Given the description of an element on the screen output the (x, y) to click on. 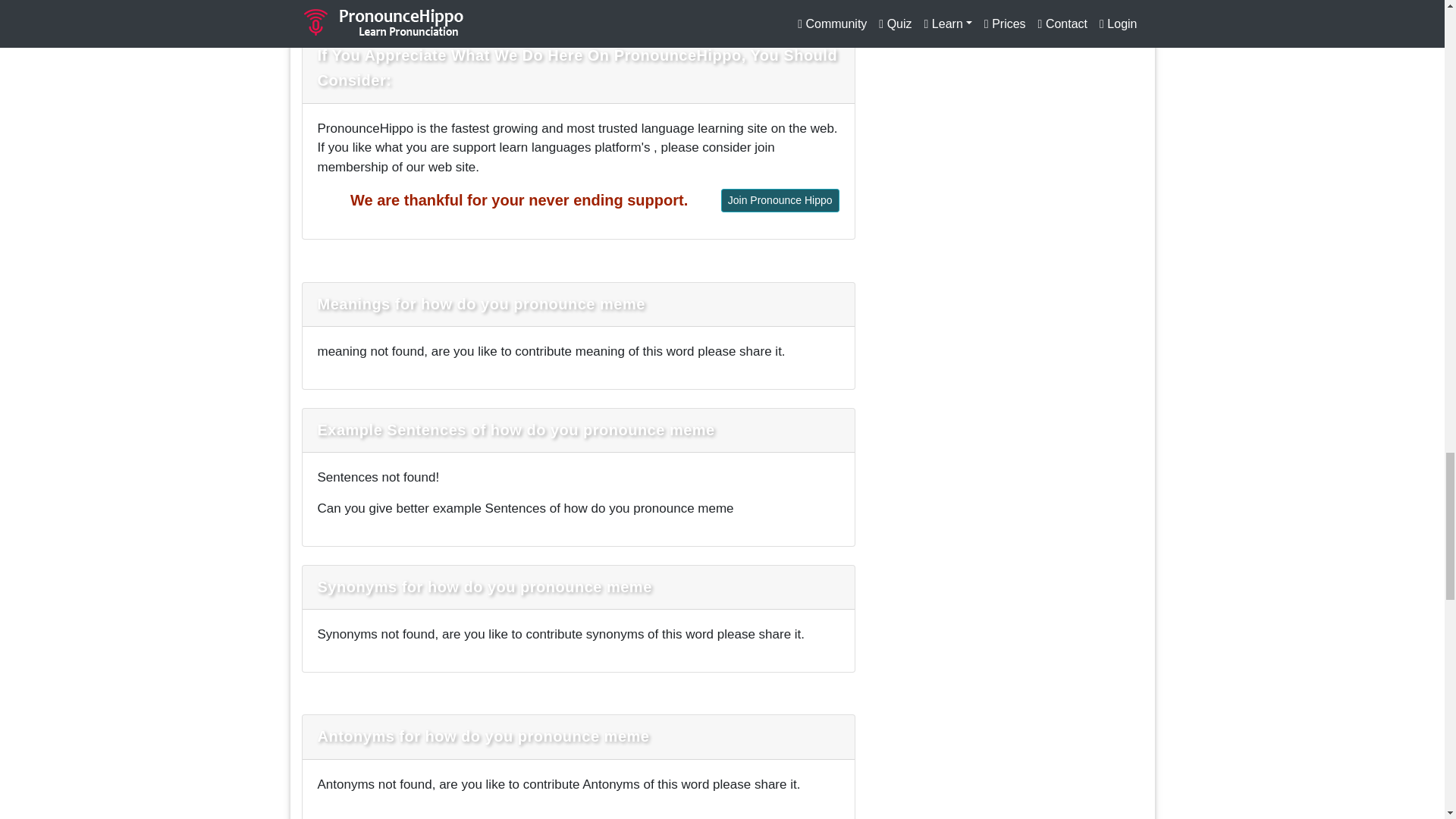
Portuguese (757, 2)
German (405, 2)
English (337, 2)
Italian (608, 2)
Join Pronounce Hippo (780, 200)
Spanish (477, 2)
French (545, 2)
Russian (675, 2)
